Given the description of an element on the screen output the (x, y) to click on. 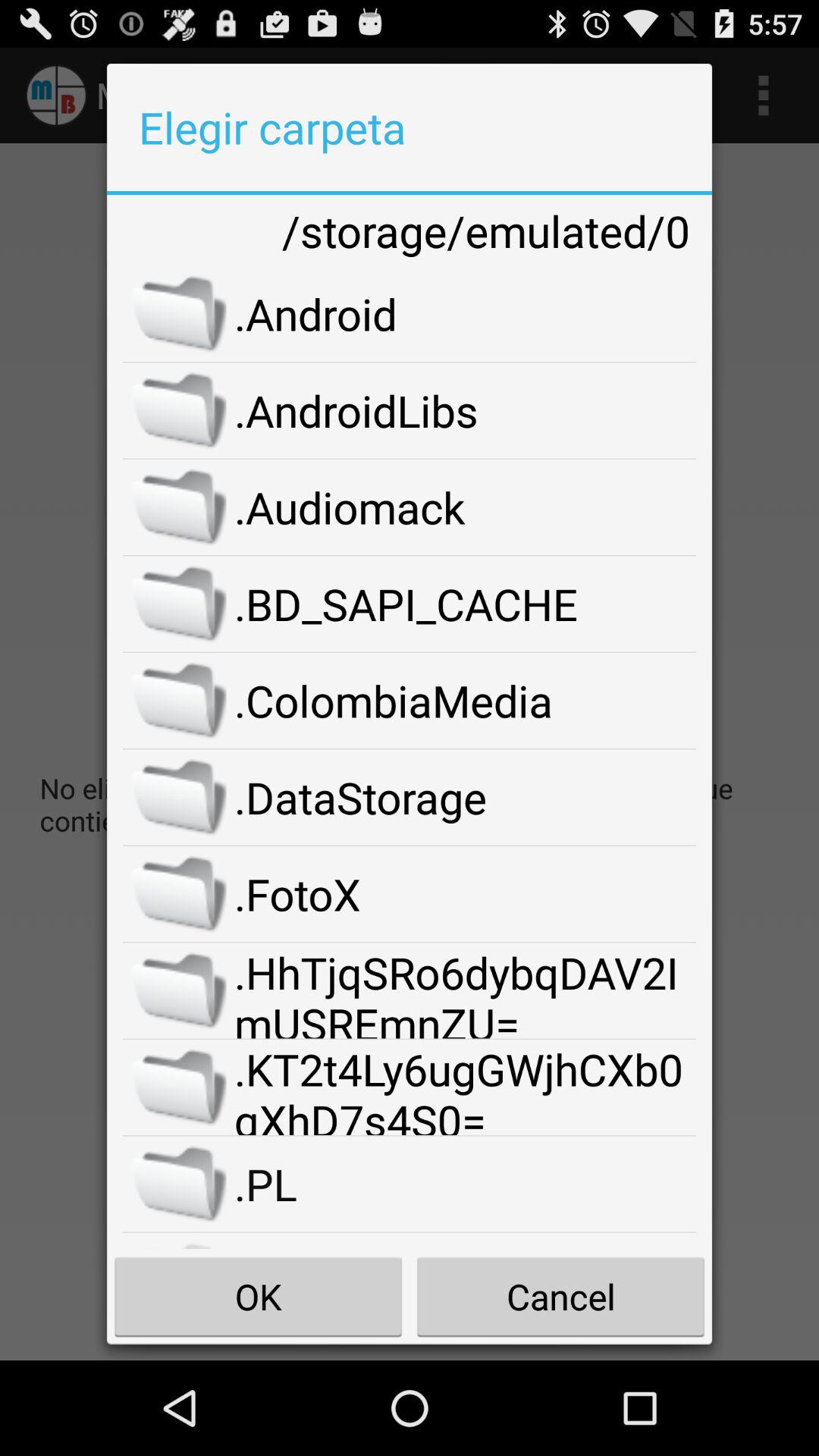
jump until .colombiamedia (465, 700)
